Given the description of an element on the screen output the (x, y) to click on. 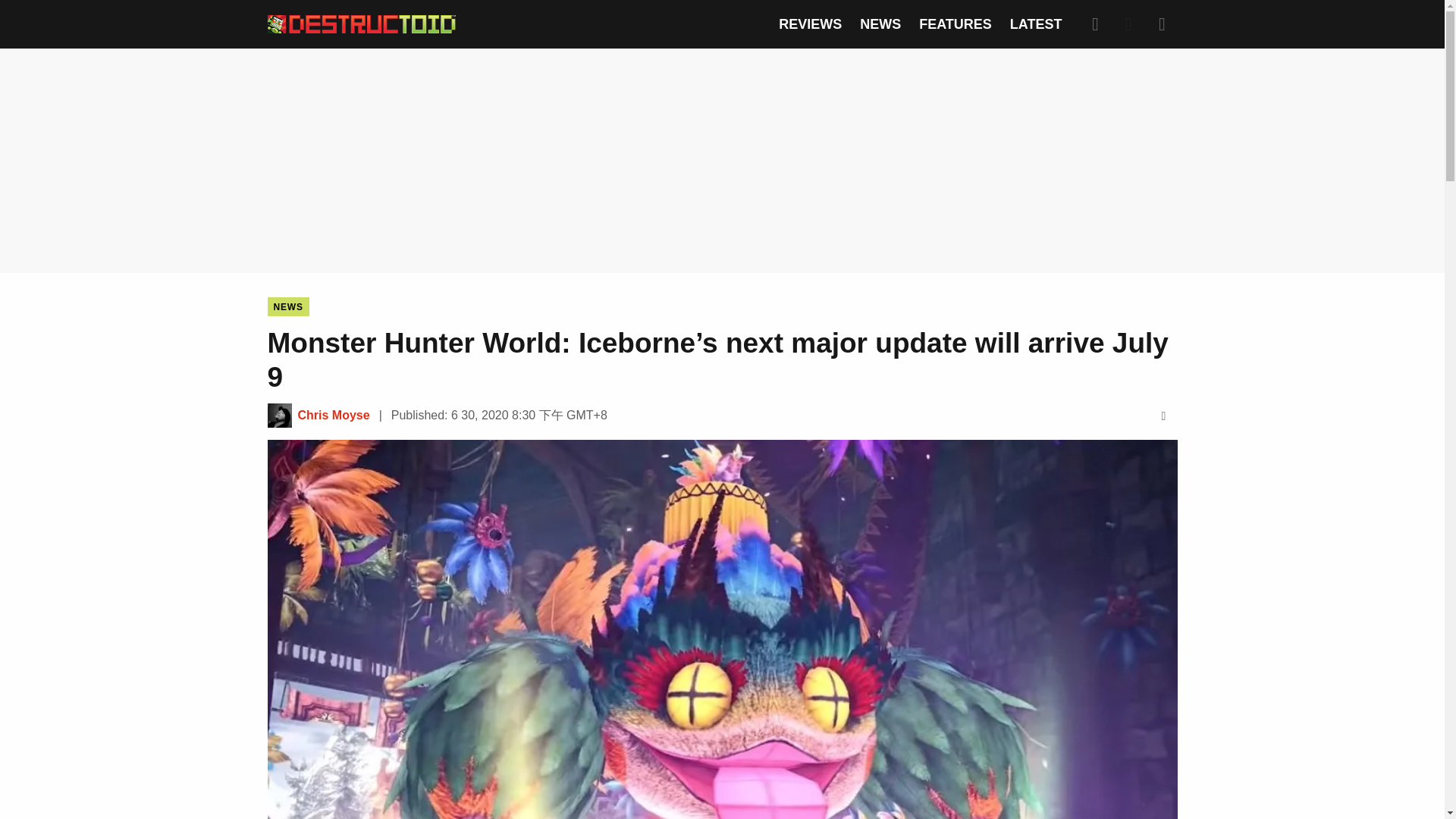
Expand Menu (1161, 24)
Dark Mode (1127, 24)
Search (1094, 24)
NEWS (880, 23)
REVIEWS (809, 23)
FEATURES (954, 23)
LATEST (1036, 23)
NEWS (287, 306)
